Given the description of an element on the screen output the (x, y) to click on. 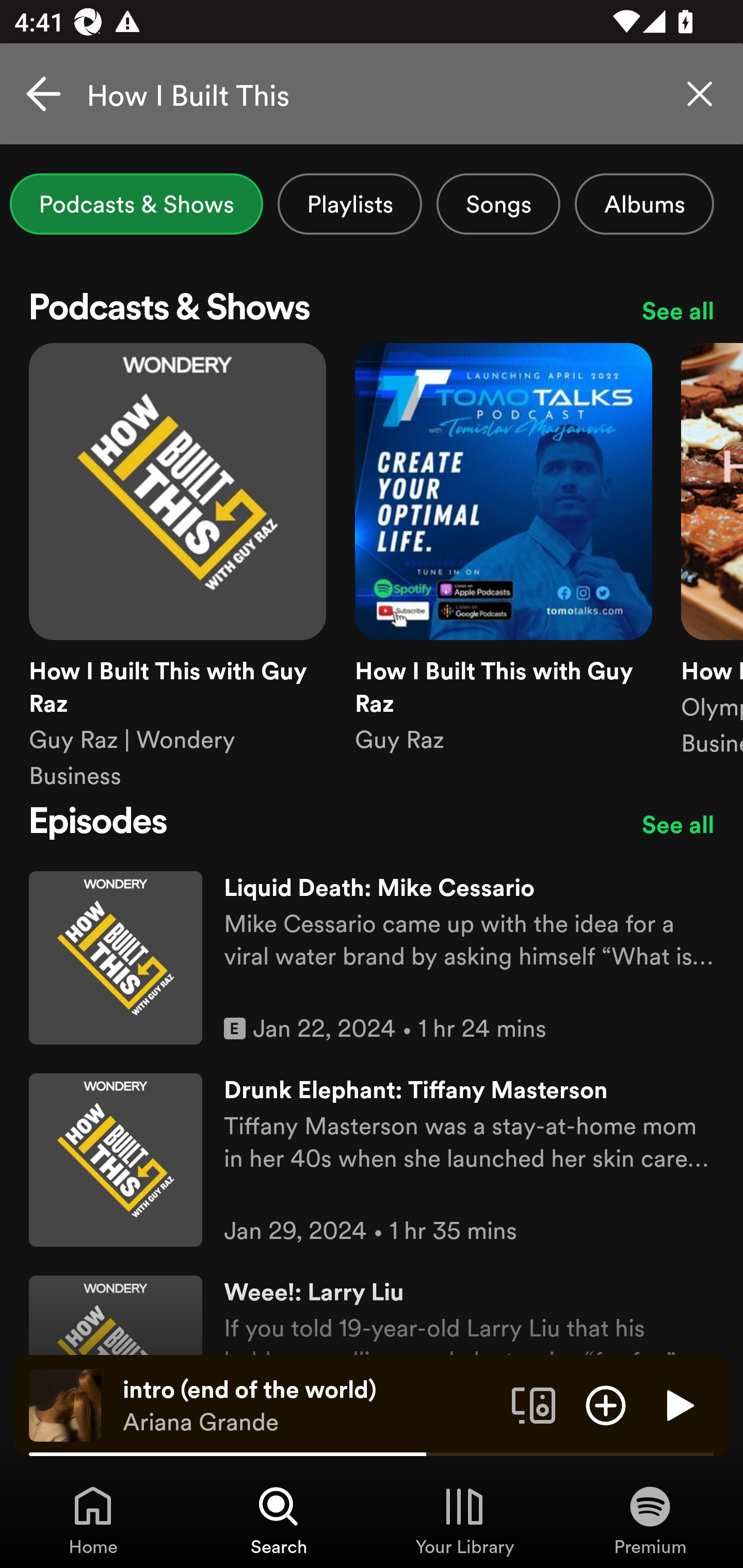
How I Built This (371, 93)
Cancel (43, 93)
Clear search query (699, 93)
Podcasts & Shows (136, 203)
Playlists (349, 203)
Songs (498, 203)
Albums (644, 203)
Podcasts & Shows See all (371, 310)
How I Built This with Guy Raz Guy Raz (503, 567)
Episodes See all (371, 823)
intro (end of the world) Ariana Grande (309, 1405)
The cover art of the currently playing track (64, 1404)
Connect to a device. Opens the devices menu (533, 1404)
Add item (605, 1404)
Play (677, 1404)
Home, Tab 1 of 4 Home Home (92, 1519)
Search, Tab 2 of 4 Search Search (278, 1519)
Your Library, Tab 3 of 4 Your Library Your Library (464, 1519)
Premium, Tab 4 of 4 Premium Premium (650, 1519)
